Given the description of an element on the screen output the (x, y) to click on. 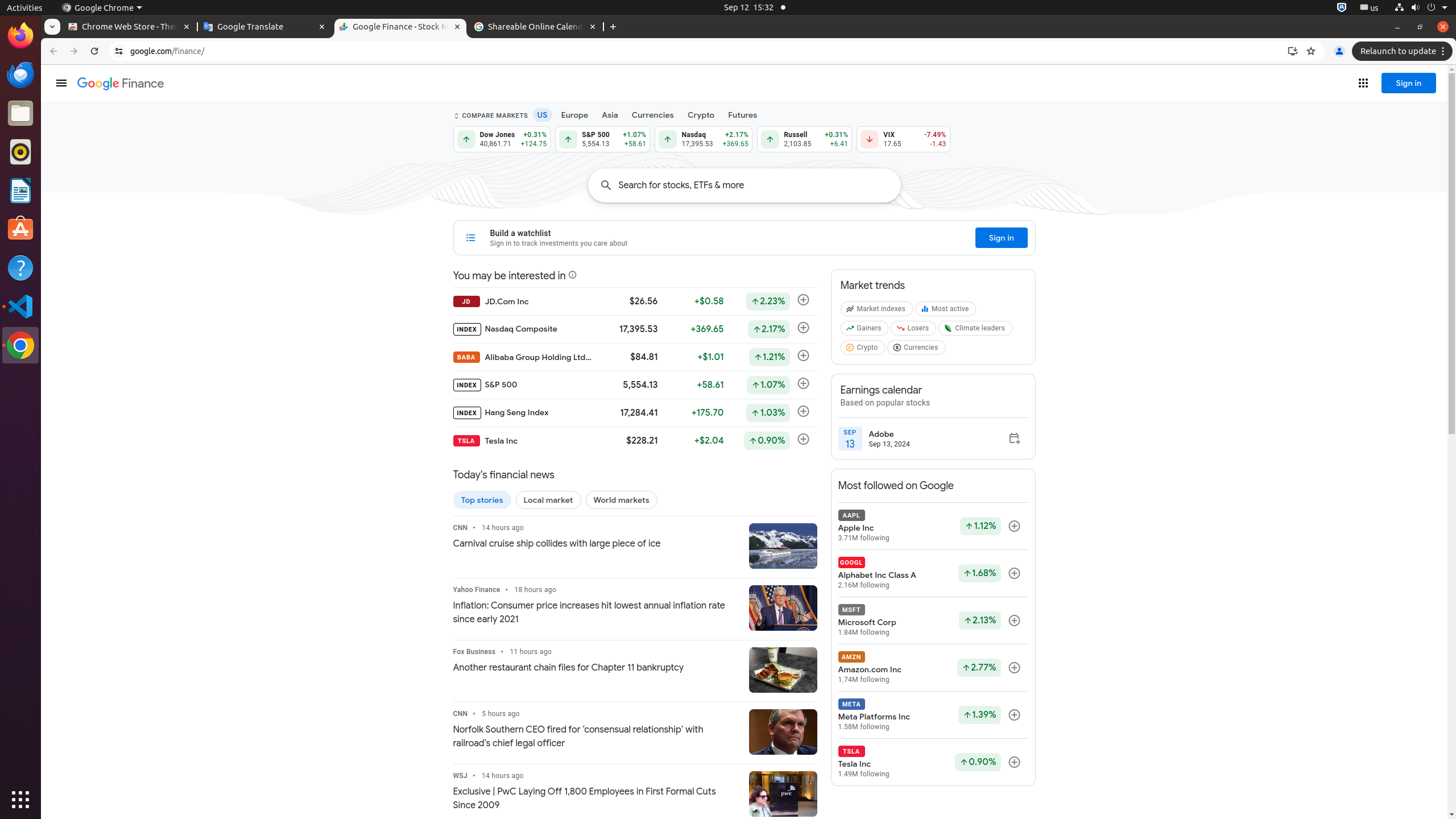
INDEX S&P 500 5,554.13 +58.61 Up by 1.07% Follow Element type: link (634, 384)
Bookmark this tab Element type: push-button (1310, 51)
